Given the description of an element on the screen output the (x, y) to click on. 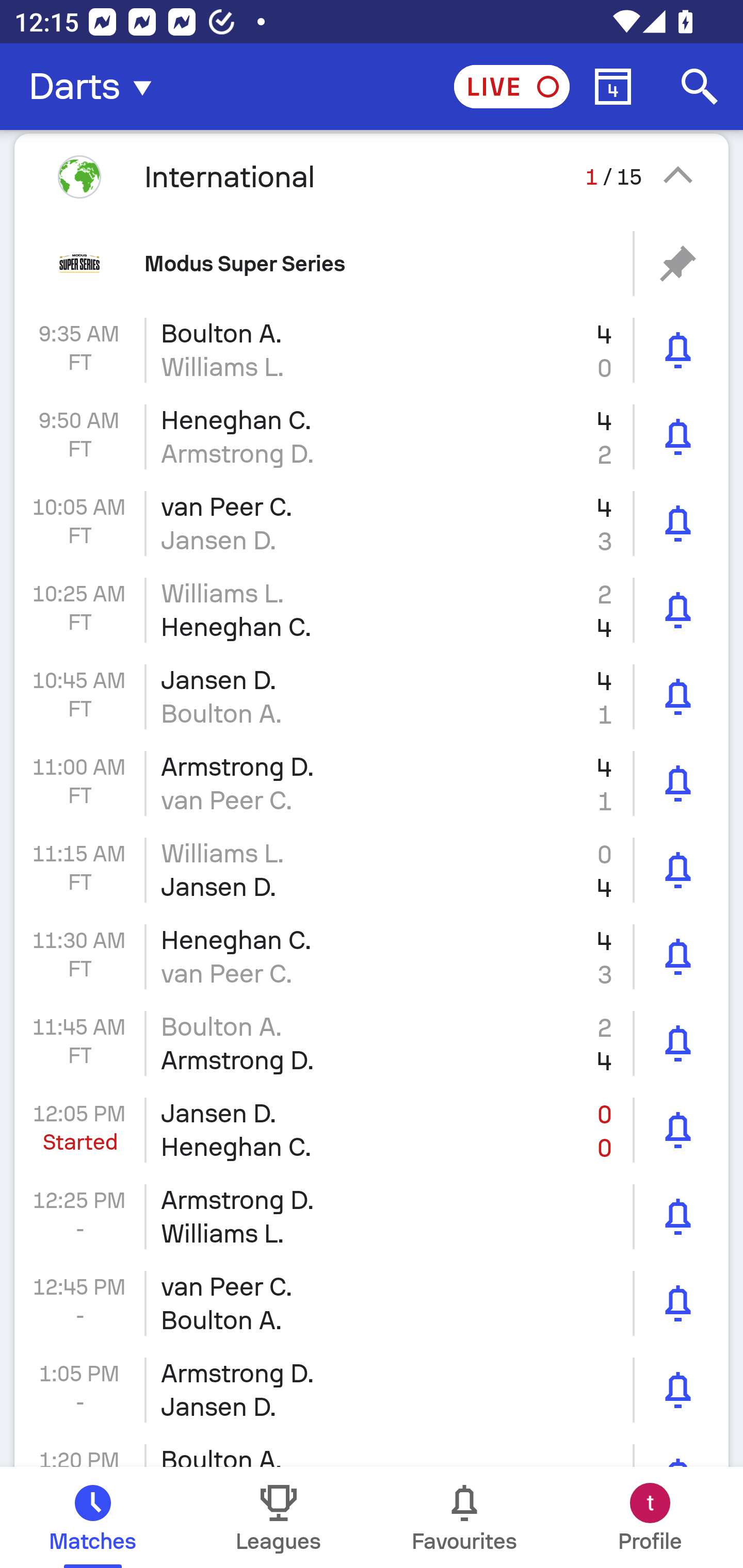
Darts (96, 86)
Calendar (612, 86)
Search (699, 86)
International 1 / 15 (371, 176)
Modus Super Series (371, 263)
9:35 AM FT Boulton A. 4 Williams L. 0 (371, 350)
9:50 AM FT Heneghan C. 4 Armstrong D. 2 (371, 436)
10:05 AM FT van Peer C. 4 Jansen D. 3 (371, 523)
10:25 AM FT Williams L. 2 Heneghan C. 4 (371, 610)
10:45 AM FT Jansen D. 4 Boulton A. 1 (371, 696)
11:00 AM FT Armstrong D. 4 van Peer C. 1 (371, 783)
11:15 AM FT Williams L. 0 Jansen D. 4 (371, 870)
11:30 AM FT Heneghan C. 4 van Peer C. 3 (371, 957)
11:45 AM FT Boulton A. 2 Armstrong D. 4 (371, 1043)
12:05 PM Started Jansen D. 0 Heneghan C. 0 (371, 1129)
12:25 PM - Armstrong D. Williams L. (371, 1216)
12:45 PM - van Peer C. Boulton A. (371, 1303)
1:05 PM - Armstrong D. Jansen D. (371, 1389)
Leagues (278, 1517)
Favourites (464, 1517)
Profile (650, 1517)
